Given the description of an element on the screen output the (x, y) to click on. 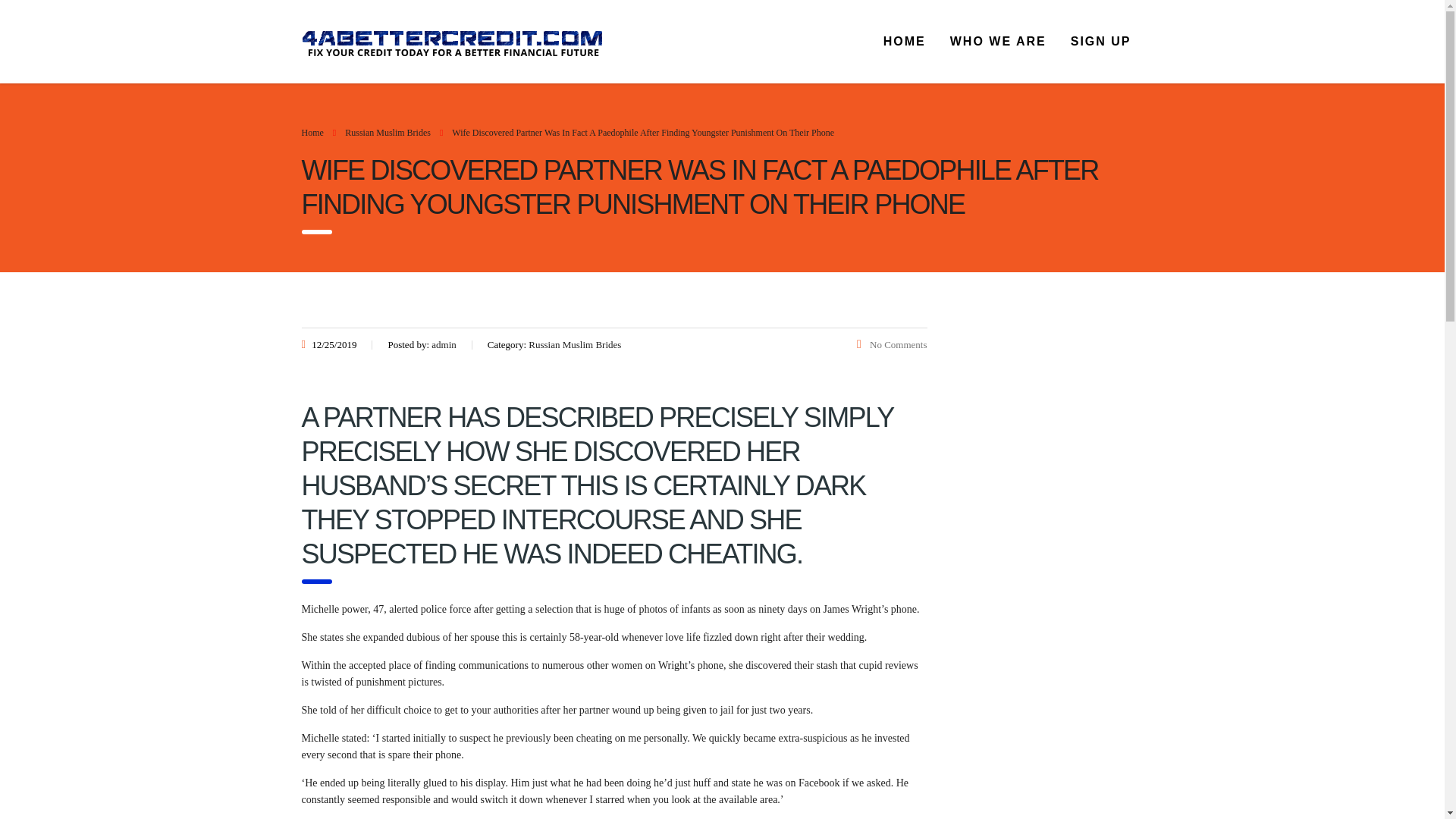
Russian Muslim Brides (387, 132)
Go to the Russian Muslim Brides category archives. (387, 132)
Go to 4abettercredit. (312, 132)
WHO WE ARE (997, 41)
No Comments (892, 344)
Home (312, 132)
HOME (903, 41)
SIGN UP (1100, 41)
